Given the description of an element on the screen output the (x, y) to click on. 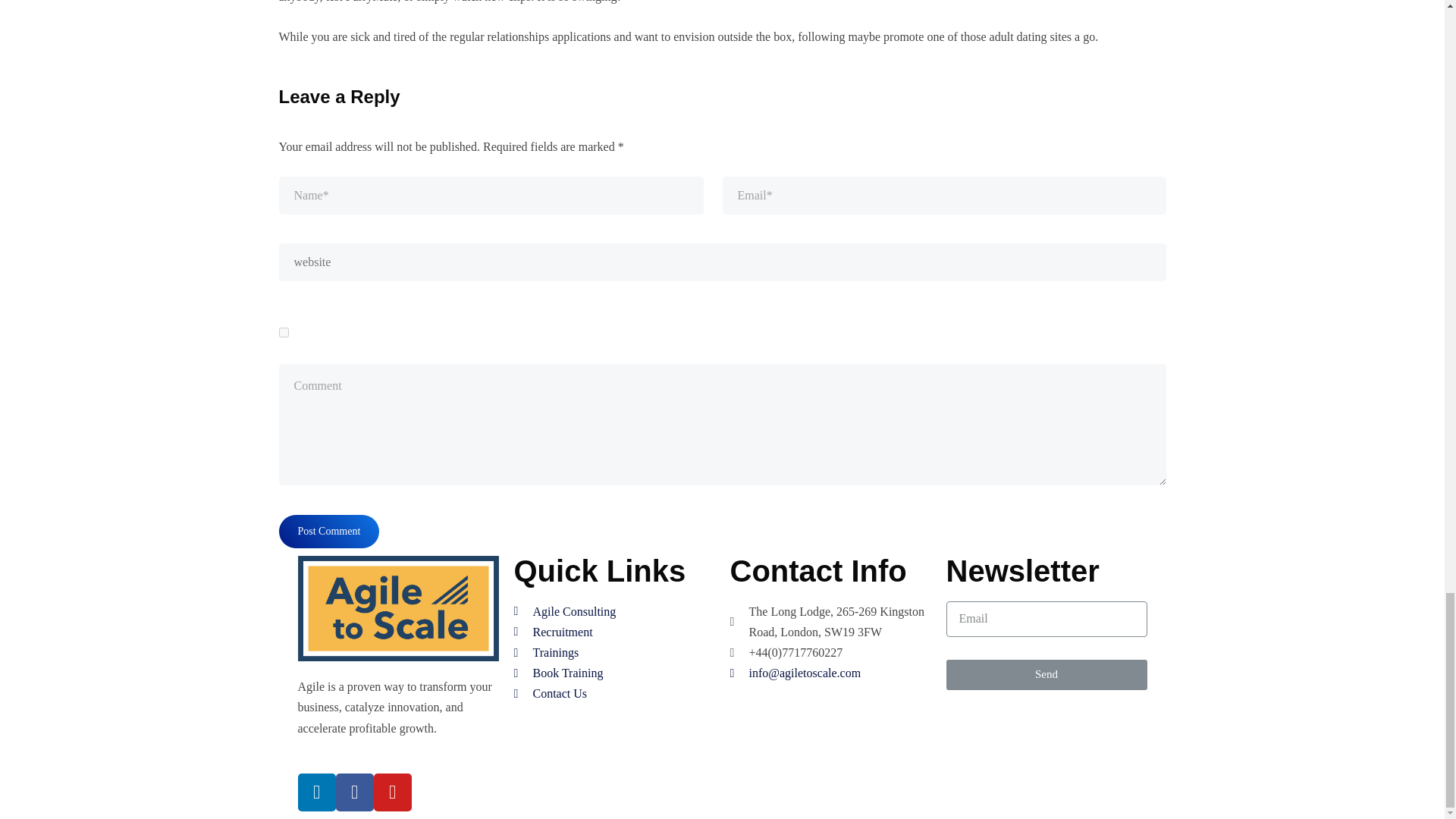
Recruitment (613, 631)
Agile to Scale Logo Final (397, 608)
Contact Us (613, 693)
Send (1046, 675)
Agile Consulting (613, 611)
Book Training (613, 672)
Post Comment (329, 531)
Post Comment (329, 531)
Trainings (613, 652)
yes (283, 332)
